Given the description of an element on the screen output the (x, y) to click on. 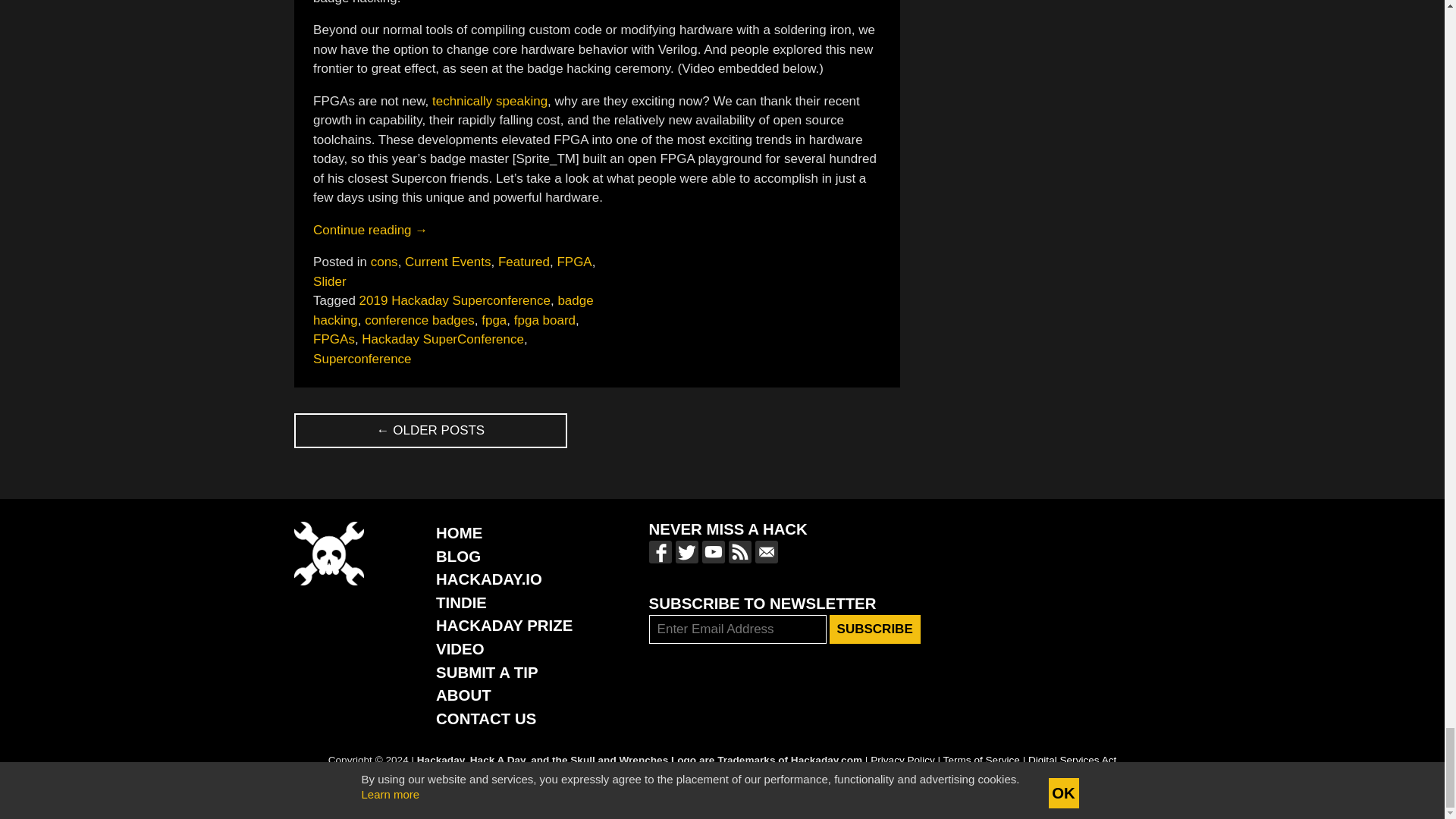
Subscribe (874, 629)
